Given the description of an element on the screen output the (x, y) to click on. 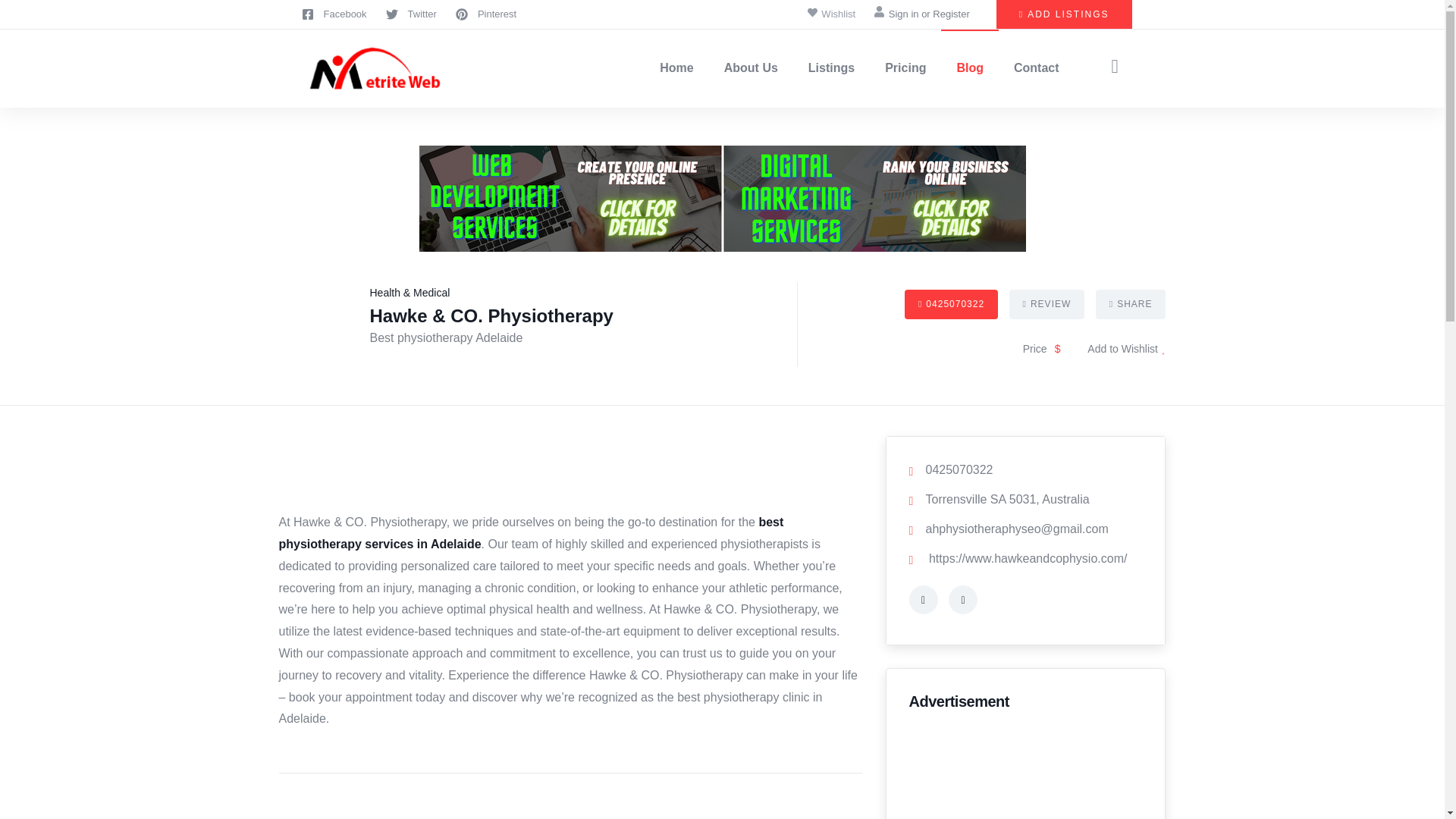
Listings (831, 68)
Advertisement (571, 469)
0425070322 (950, 304)
REVIEW (1046, 304)
Pinterest (485, 14)
Wishlist (1126, 348)
Sign in (904, 13)
Pricing (904, 68)
Wishlist (832, 13)
Twitter (410, 14)
Advertisement (1024, 772)
ADD LISTINGS (1063, 14)
Facebook (333, 14)
Register (951, 13)
